Given the description of an element on the screen output the (x, y) to click on. 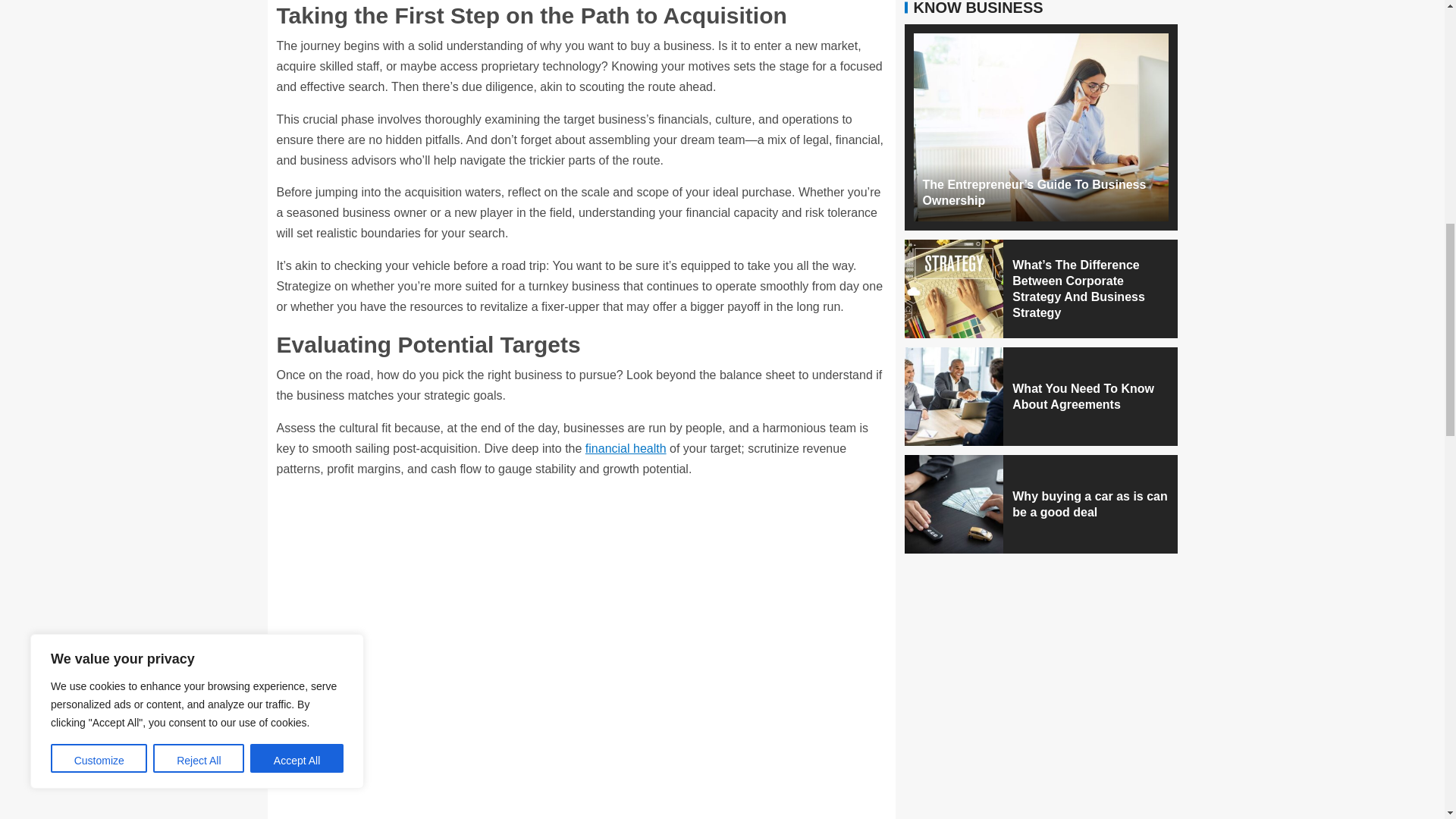
financial health (625, 448)
